Given the description of an element on the screen output the (x, y) to click on. 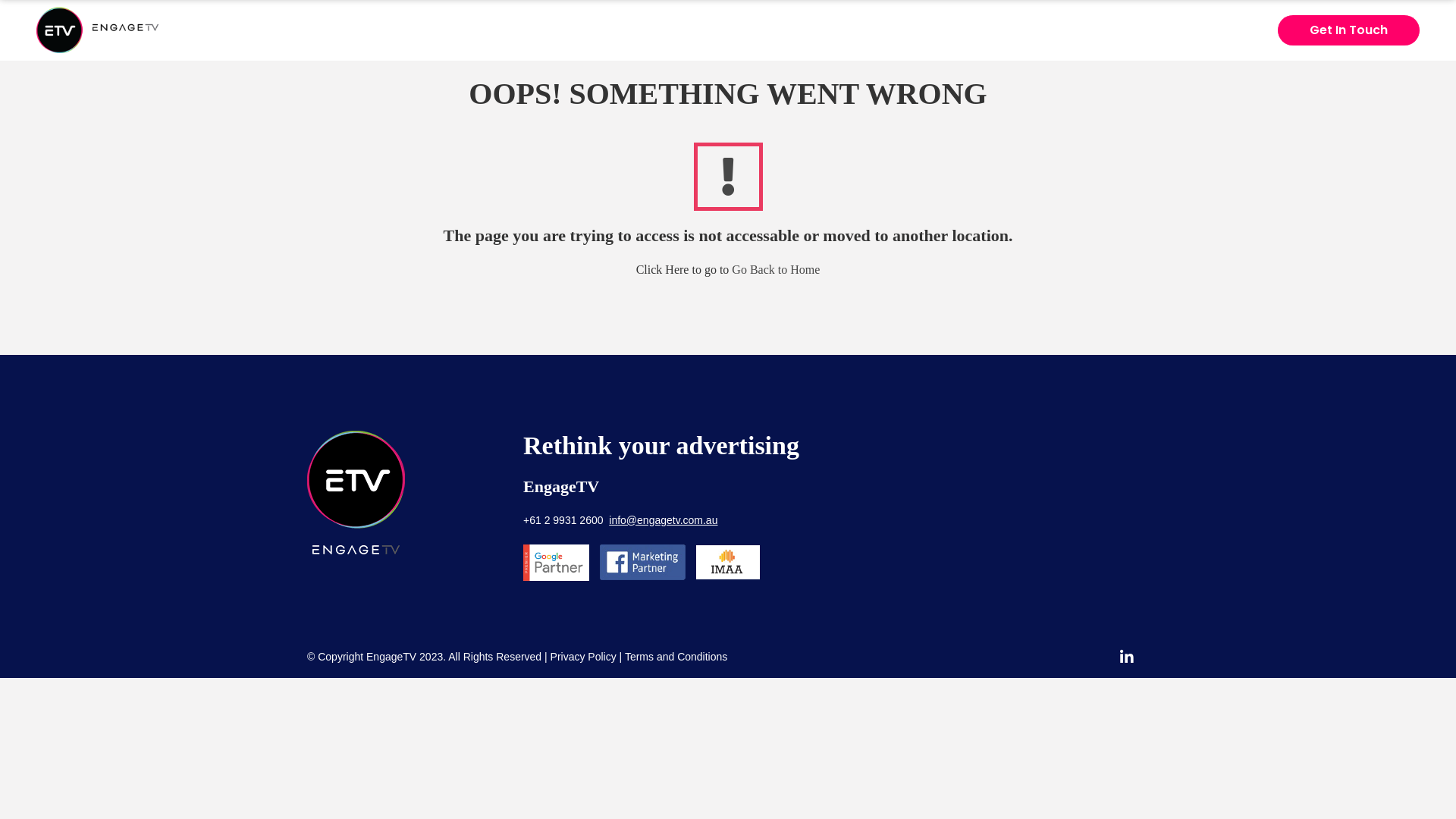
+61 2 9931 2600 Element type: text (563, 520)
info@engagetv.com.au Element type: text (662, 520)
Get In Touch Element type: text (1348, 29)
Go Back to Home Element type: text (775, 269)
Privacy Policy Element type: text (583, 656)
Terms and Conditions Element type: text (675, 656)
